Given the description of an element on the screen output the (x, y) to click on. 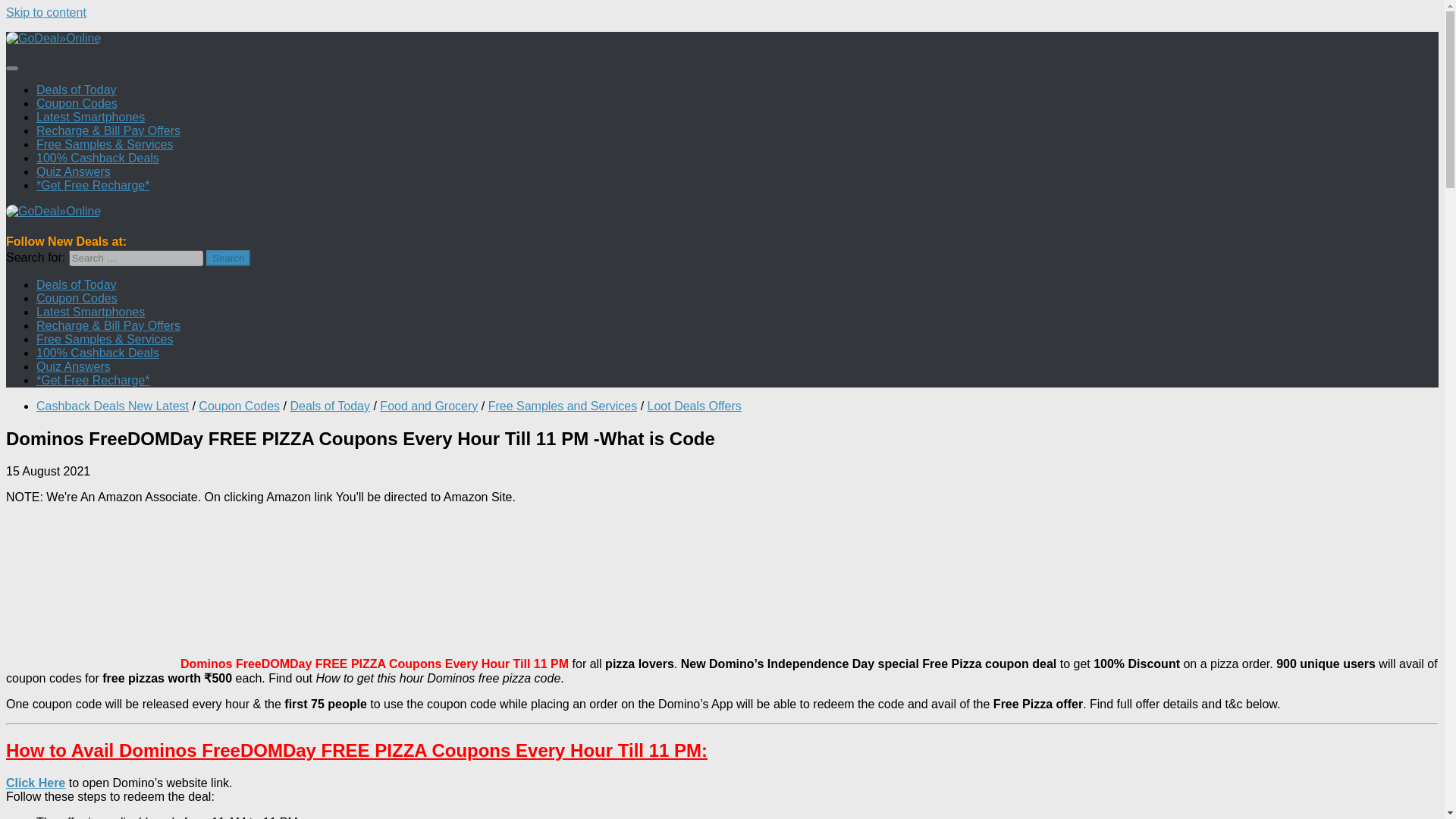
Coupon Codes (238, 405)
Loot Deals Offers (694, 405)
Skip to content (45, 11)
Quiz Answers (73, 366)
Deals of Today (76, 284)
Search (228, 258)
Menu (11, 68)
Latest Smartphones (90, 116)
Search (228, 258)
Deals of Today (76, 89)
Quiz Answers (73, 171)
Coupon Codes (76, 103)
Latest Smartphones (90, 311)
Search (228, 258)
Deals of Today (329, 405)
